Given the description of an element on the screen output the (x, y) to click on. 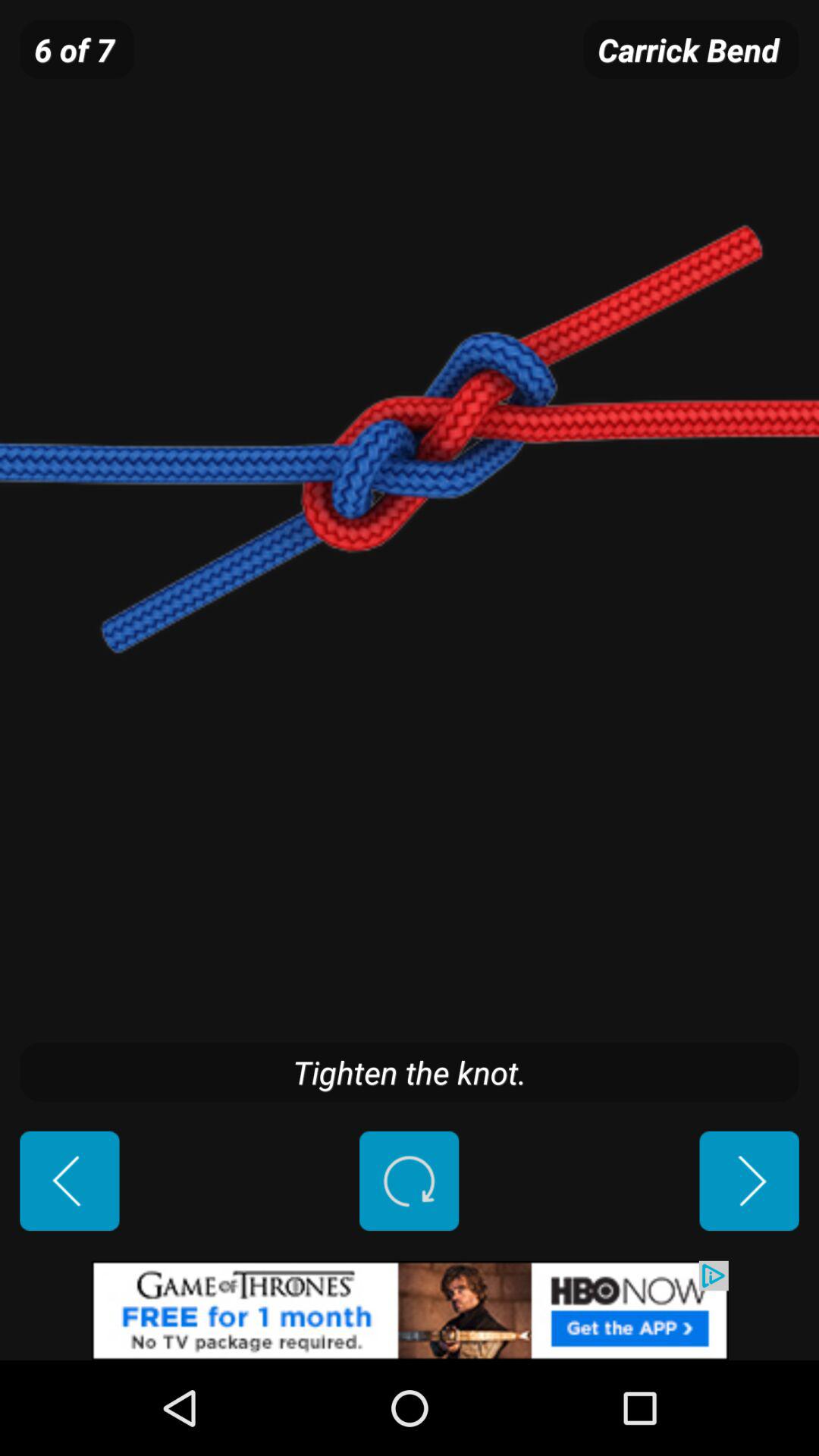
go back (69, 1180)
